Given the description of an element on the screen output the (x, y) to click on. 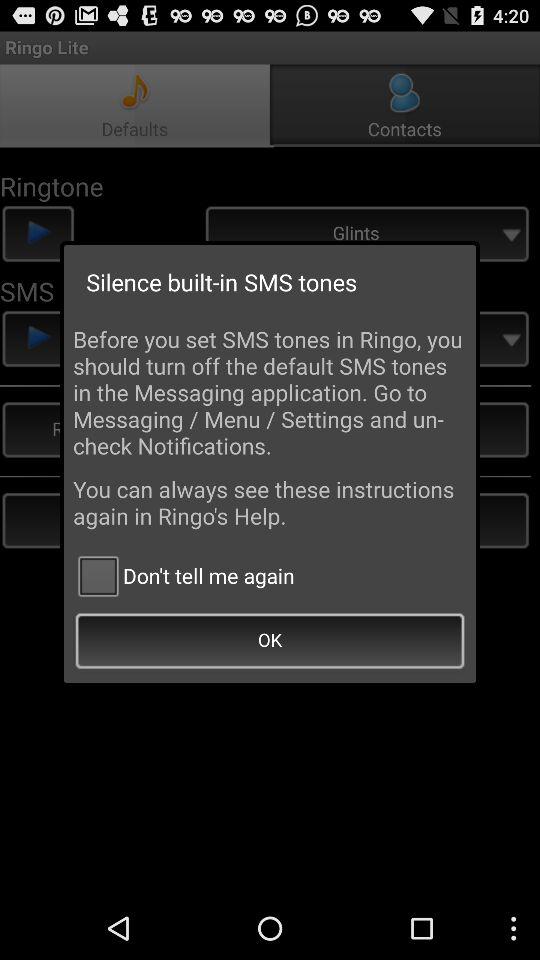
open the item below the you can always item (183, 575)
